Given the description of an element on the screen output the (x, y) to click on. 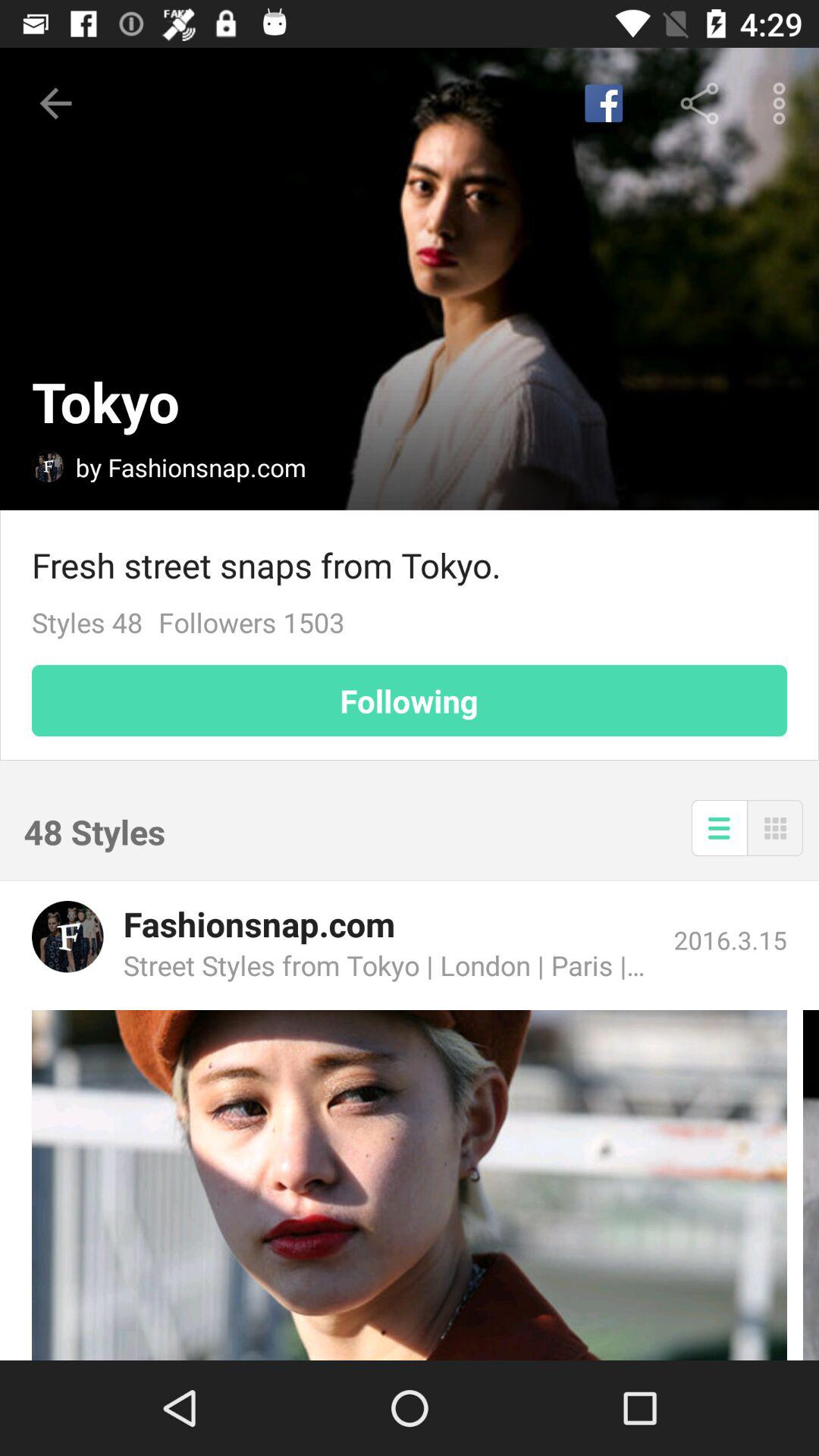
an article (409, 1185)
